Given the description of an element on the screen output the (x, y) to click on. 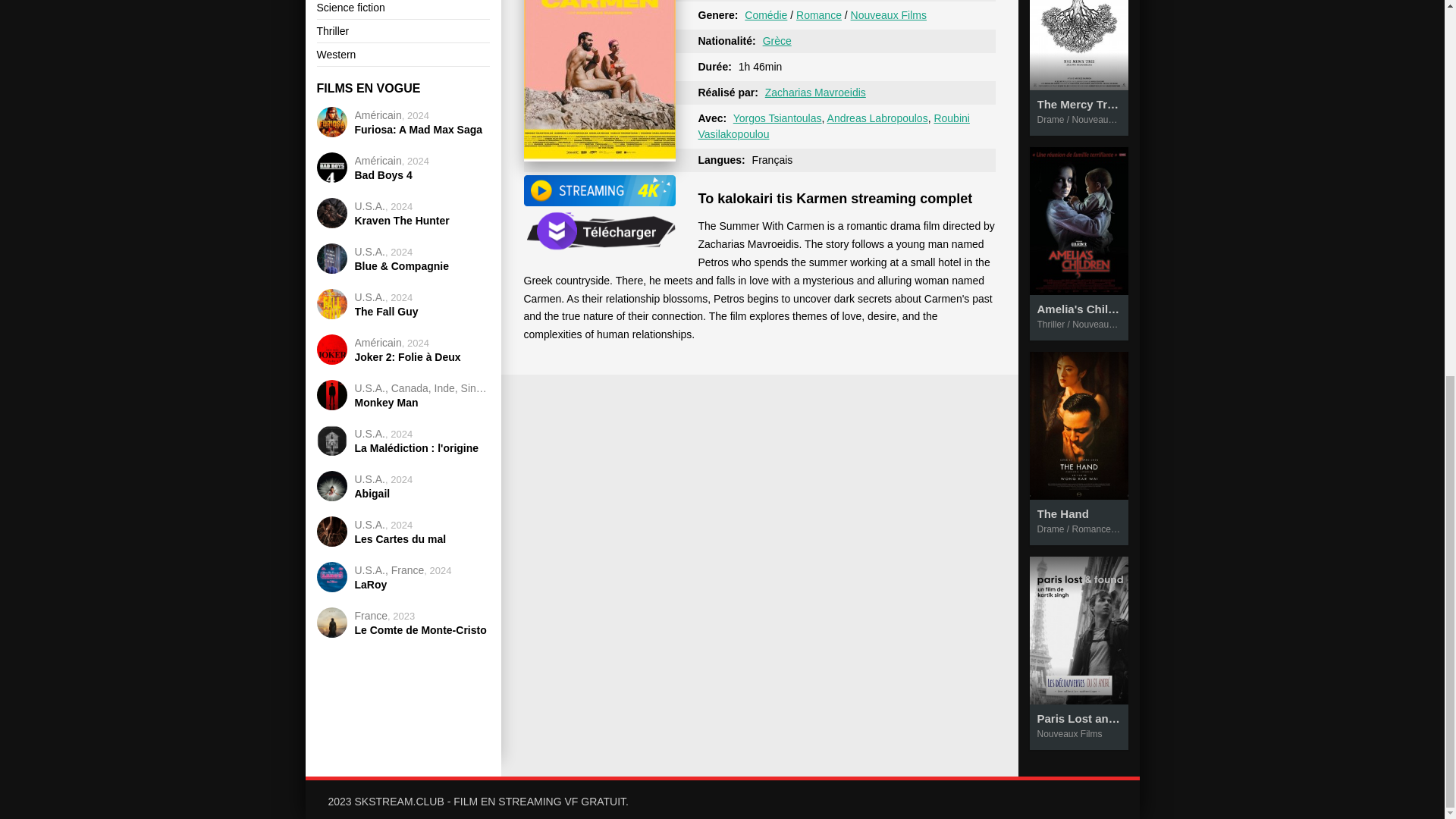
Roubini Vasilakopoulou (833, 126)
Nouveaux Films (888, 15)
  The Summer With Carmen Streaming  (598, 201)
Andreas Labropoulos (877, 118)
Zacharias Mavroeidis (815, 92)
Romance (818, 15)
Yorgos Tsiantoulas (777, 118)
